Given the description of an element on the screen output the (x, y) to click on. 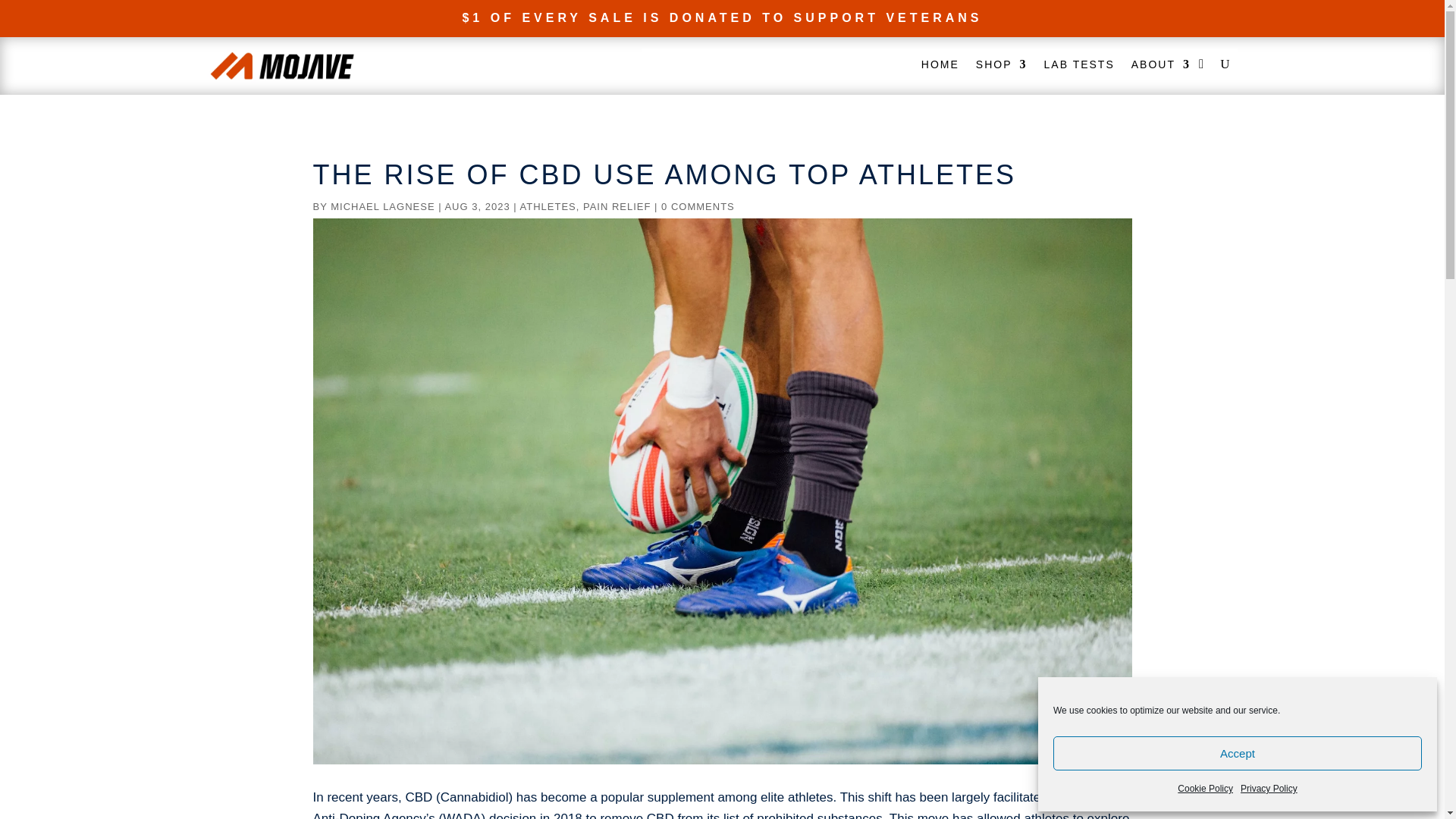
ABOUT (1161, 67)
MOJAVE LOGO (282, 65)
Privacy Policy (1268, 789)
LAB TESTS (1079, 67)
HOME (940, 67)
SHOP (1001, 67)
Posts by Michael Lagnese (381, 206)
Accept (1237, 753)
Cookie Policy (1205, 789)
